Given the description of an element on the screen output the (x, y) to click on. 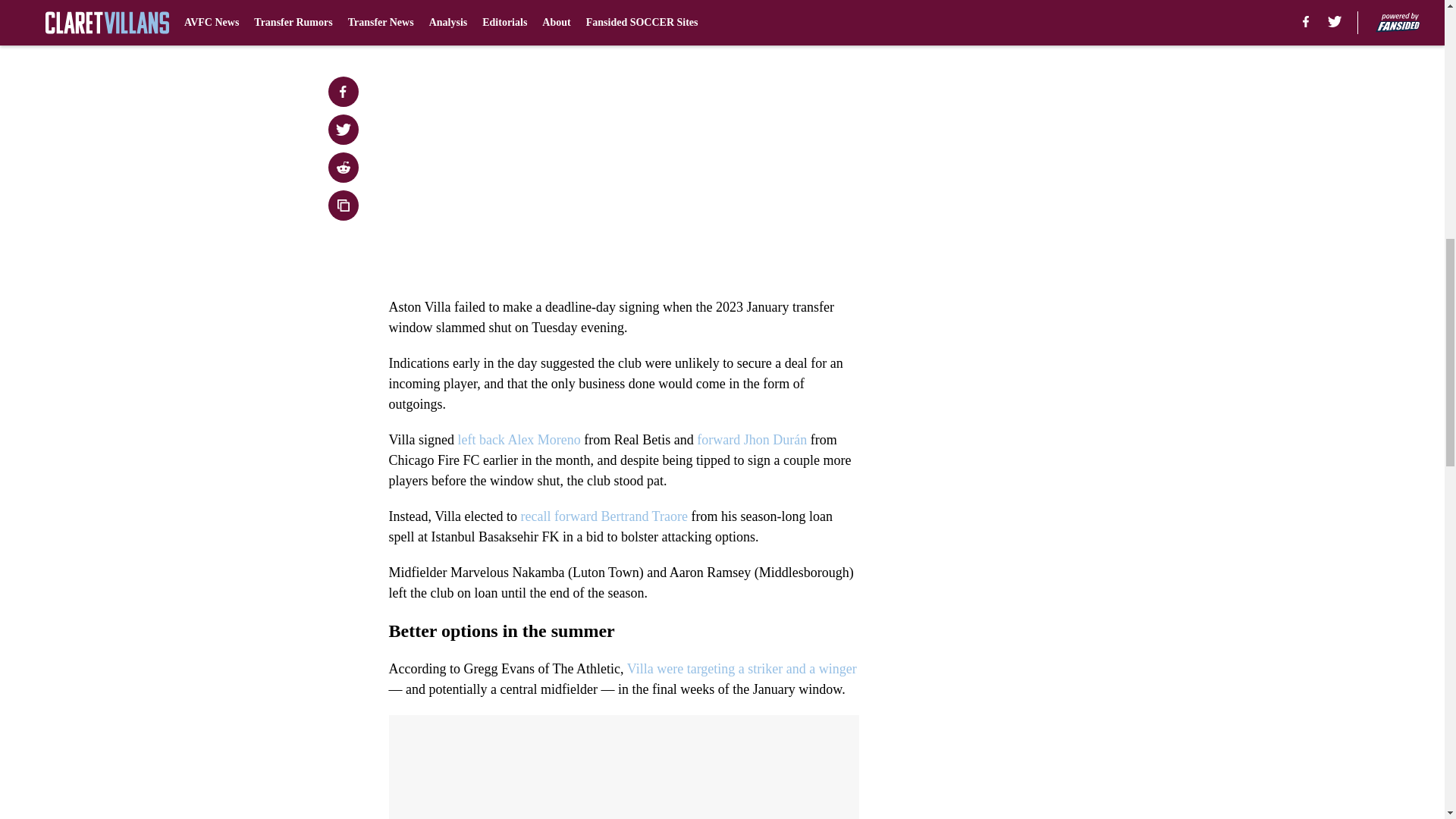
recall forward Bertrand Traore (604, 516)
left back Alex Moreno (518, 439)
Villa were targeting a striker and a winger (742, 668)
